Given the description of an element on the screen output the (x, y) to click on. 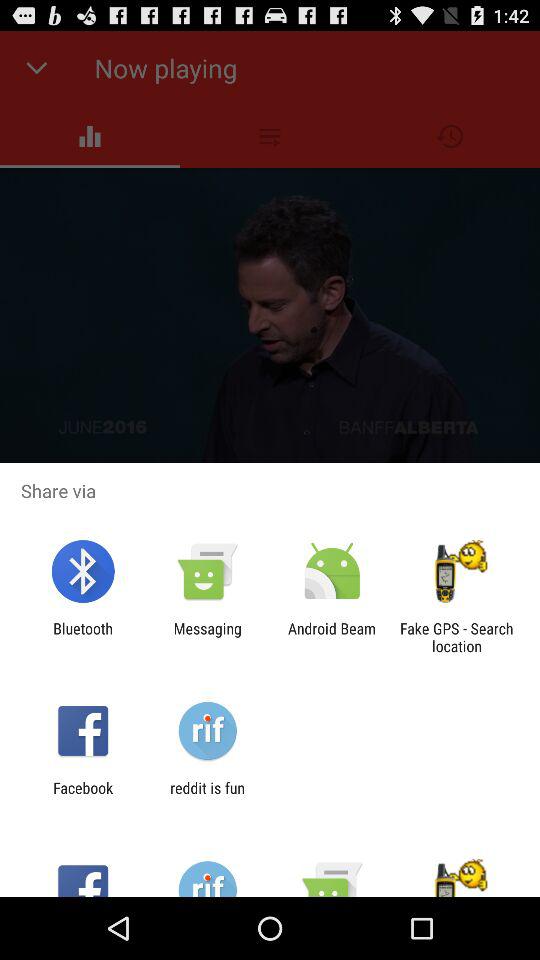
flip to the bluetooth icon (82, 637)
